Given the description of an element on the screen output the (x, y) to click on. 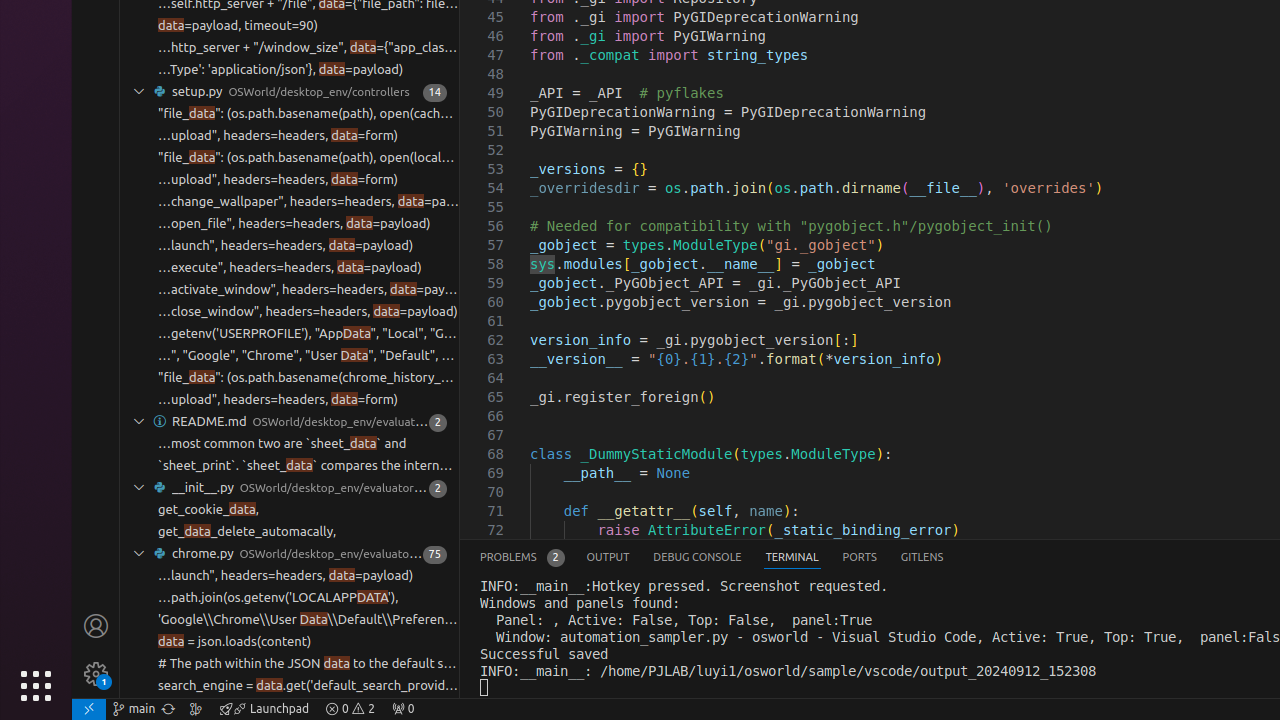
75 matches in file chrome.py of folder OSWorld/desktop_env/evaluators/getters, Search result Element type: tree-item (289, 553)
' "file_data": (os.path.basename(chrome_history_path), open(db_path, "rb"))' at column 19 found data Element type: tree-item (289, 377)
' get_cookie_data,' at column 16 found data Element type: tree-item (289, 509)
' response = requests.post(self.http_server + "/setup" + "/close_window", headers=headers, data=payload)' at column 102 found data Element type: tree-item (289, 311)
